Given the description of an element on the screen output the (x, y) to click on. 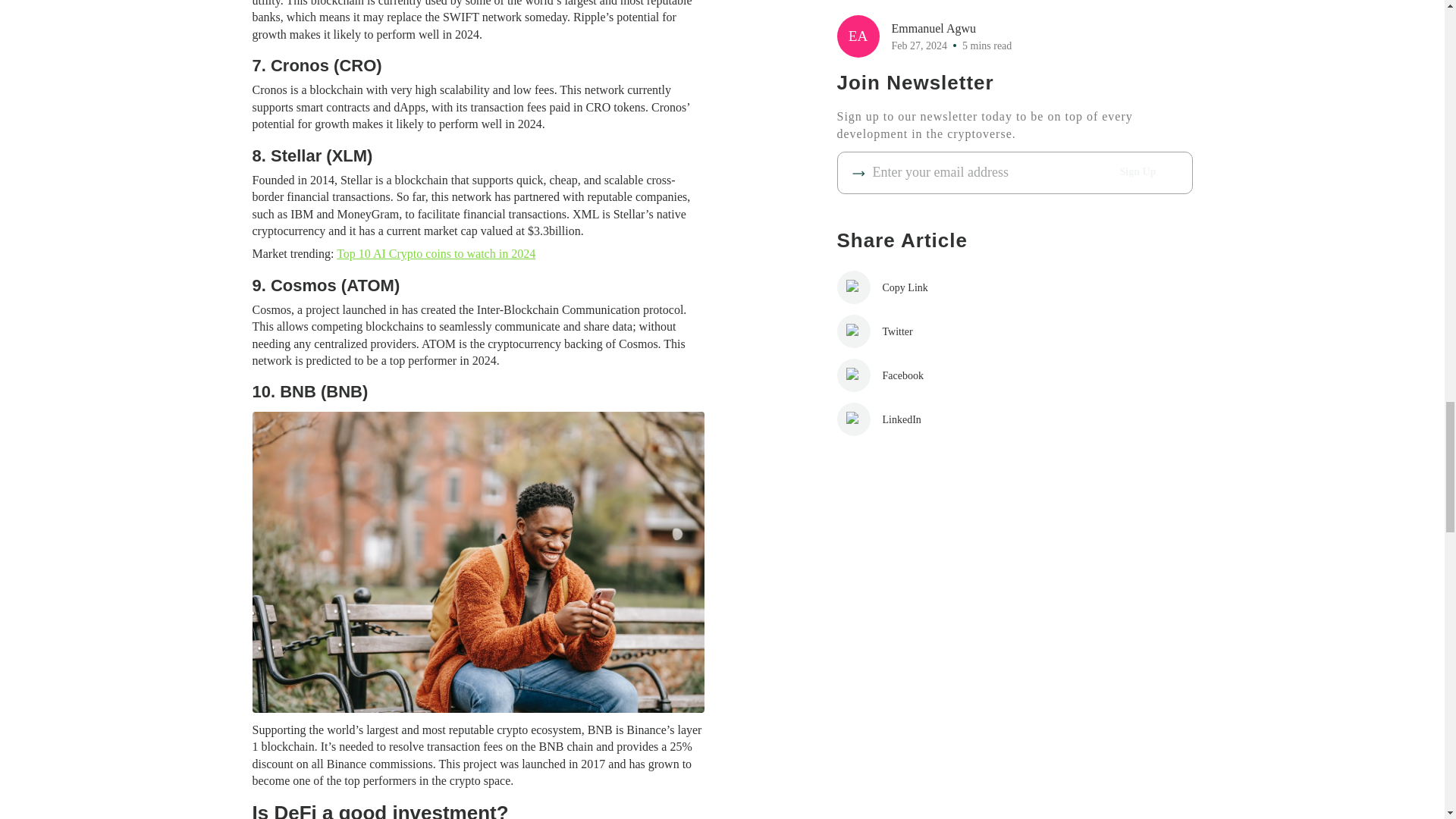
Top 10 AI Crypto coins to watch in 2024 (435, 253)
